Given the description of an element on the screen output the (x, y) to click on. 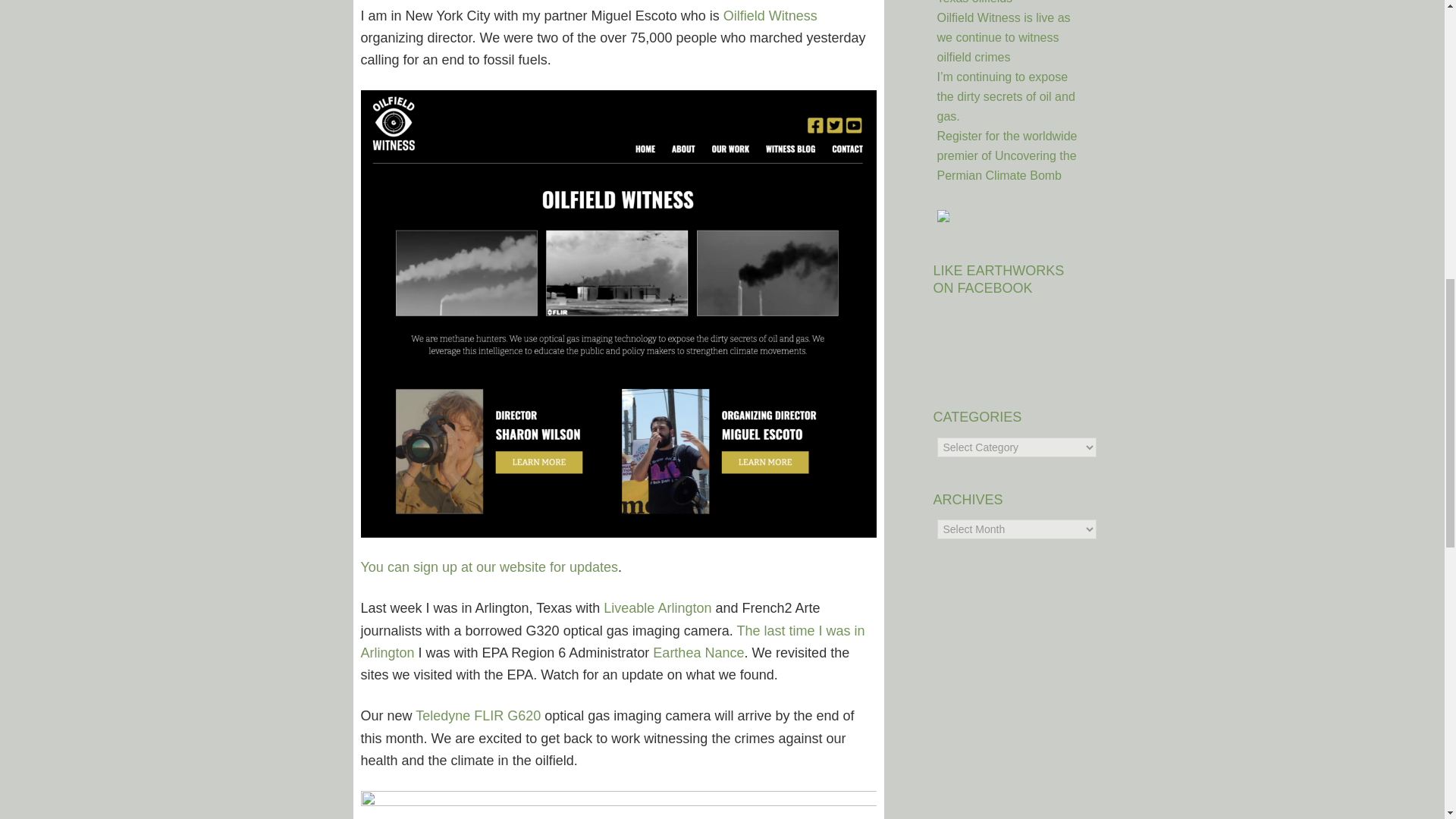
You can sign up at our website for updates (489, 566)
The last time I was in Arlington (612, 641)
Liveable Arlington (657, 607)
Teledyne FLIR G620 (477, 715)
Earthea Nance (698, 652)
Oilfield Witness (769, 15)
